Given the description of an element on the screen output the (x, y) to click on. 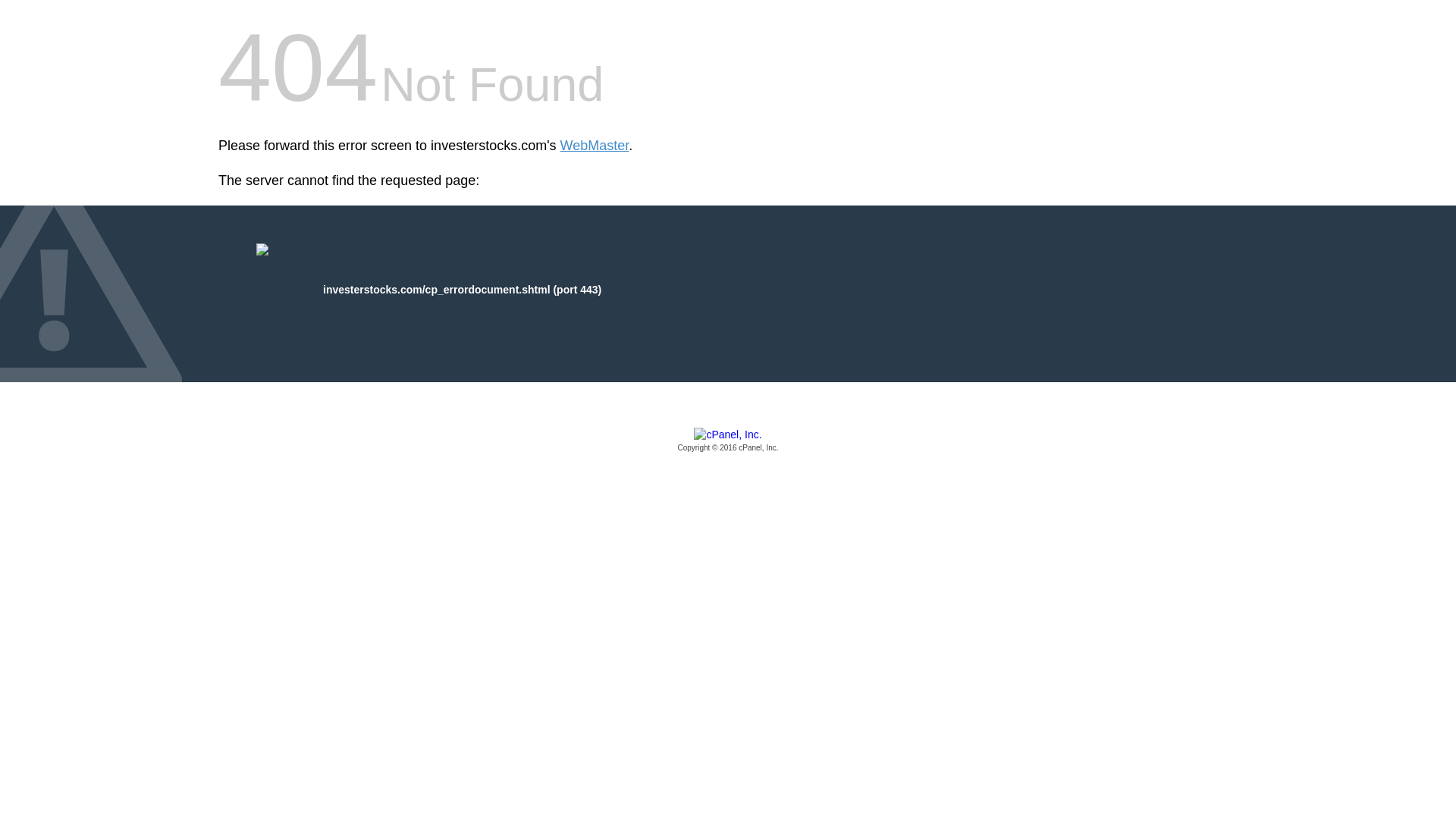
cPanel, Inc. (727, 440)
WebMaster (594, 145)
